Given the description of an element on the screen output the (x, y) to click on. 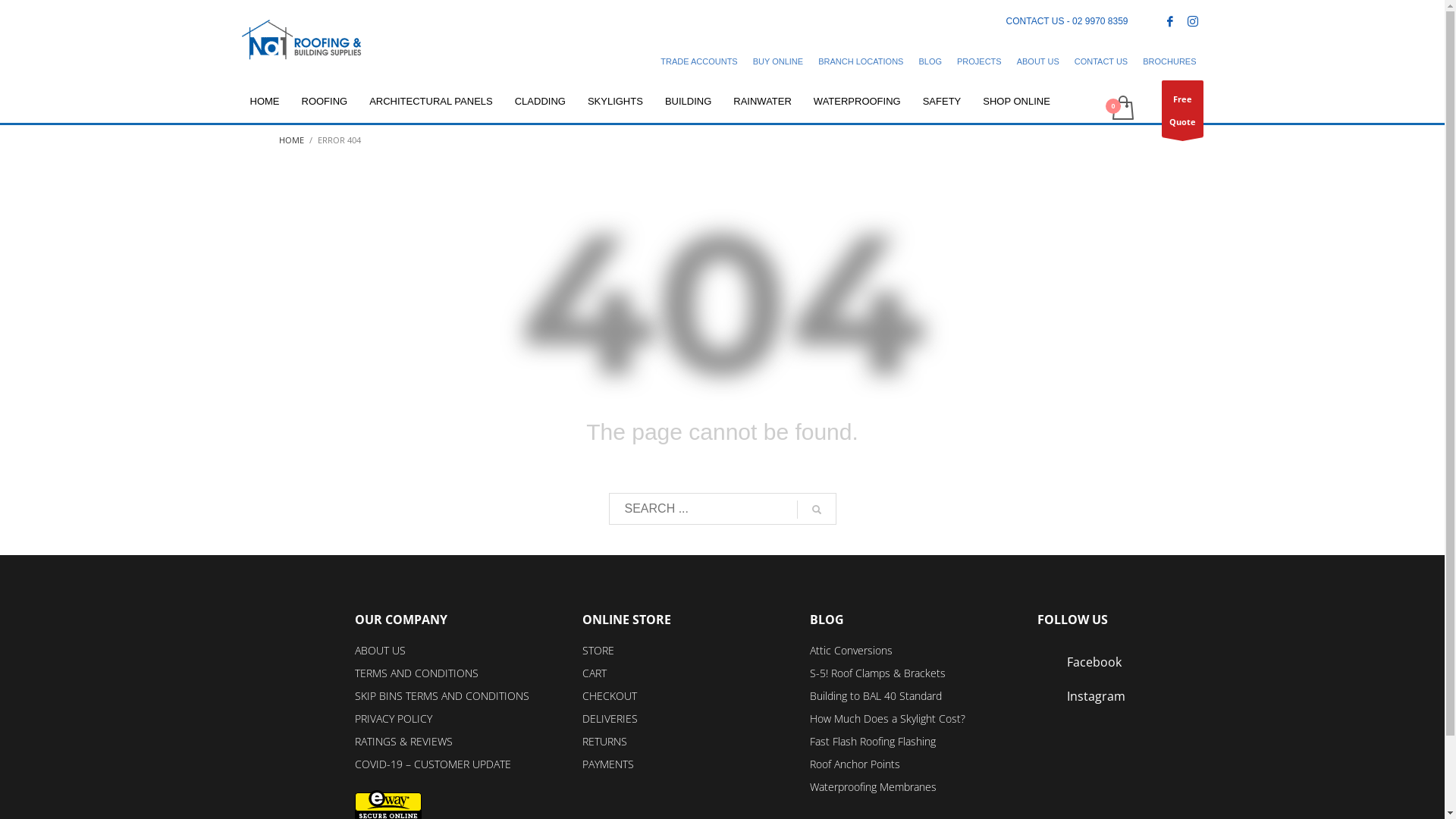
TERMS AND CONDITIONS Element type: text (416, 672)
BRANCH LOCATIONS Element type: text (860, 61)
SHOP ONLINE Element type: text (1016, 101)
Sydney, Central Coast, Western Sydney & Northern Beaches Element type: hover (301, 39)
ABOUT US Element type: text (379, 650)
SKYLIGHTS Element type: text (615, 101)
STORE Element type: text (598, 650)
PAYMENTS Element type: text (607, 763)
Fast Flash Roofing Flashing Element type: text (872, 741)
How Much Does a Skylight Cost? Element type: text (887, 718)
SAFETY Element type: text (941, 101)
Instagram Element type: hover (1192, 20)
go Element type: text (815, 509)
BLOG Element type: text (929, 61)
BROCHURES Element type: text (1168, 61)
Roof Anchor Points Element type: text (854, 763)
RAINWATER Element type: text (762, 101)
S-5! Roof Clamps & Brackets Element type: text (877, 672)
DELIVERIES Element type: text (609, 718)
CLADDING Element type: text (539, 101)
CONTACT US Element type: text (1101, 61)
ARCHITECTURAL PANELS Element type: text (431, 101)
eWAY Payment Gateway Element type: hover (387, 803)
Attic Conversions Element type: text (850, 650)
CART Element type: text (594, 672)
PROJECTS Element type: text (979, 61)
HOME Element type: text (264, 101)
RETURNS Element type: text (604, 741)
Free
Quote Element type: text (1182, 108)
RATINGS & REVIEWS Element type: text (403, 741)
Facebook Element type: hover (1169, 20)
ABOUT US Element type: text (1037, 61)
CHECKOUT Element type: text (609, 695)
View your shopping cart Element type: hover (1121, 109)
Facebook Element type: text (1081, 661)
SKIP BINS TERMS AND CONDITIONS Element type: text (441, 695)
BUILDING Element type: text (687, 101)
Waterproofing Membranes Element type: text (872, 786)
TRADE ACCOUNTS Element type: text (698, 61)
ROOFING Element type: text (324, 101)
BUY ONLINE Element type: text (778, 61)
Instagram Element type: text (1081, 696)
WATERPROOFING Element type: text (857, 101)
HOME Element type: text (291, 139)
PRIVACY POLICY Element type: text (393, 718)
Building to BAL 40 Standard Element type: text (875, 695)
